Given the description of an element on the screen output the (x, y) to click on. 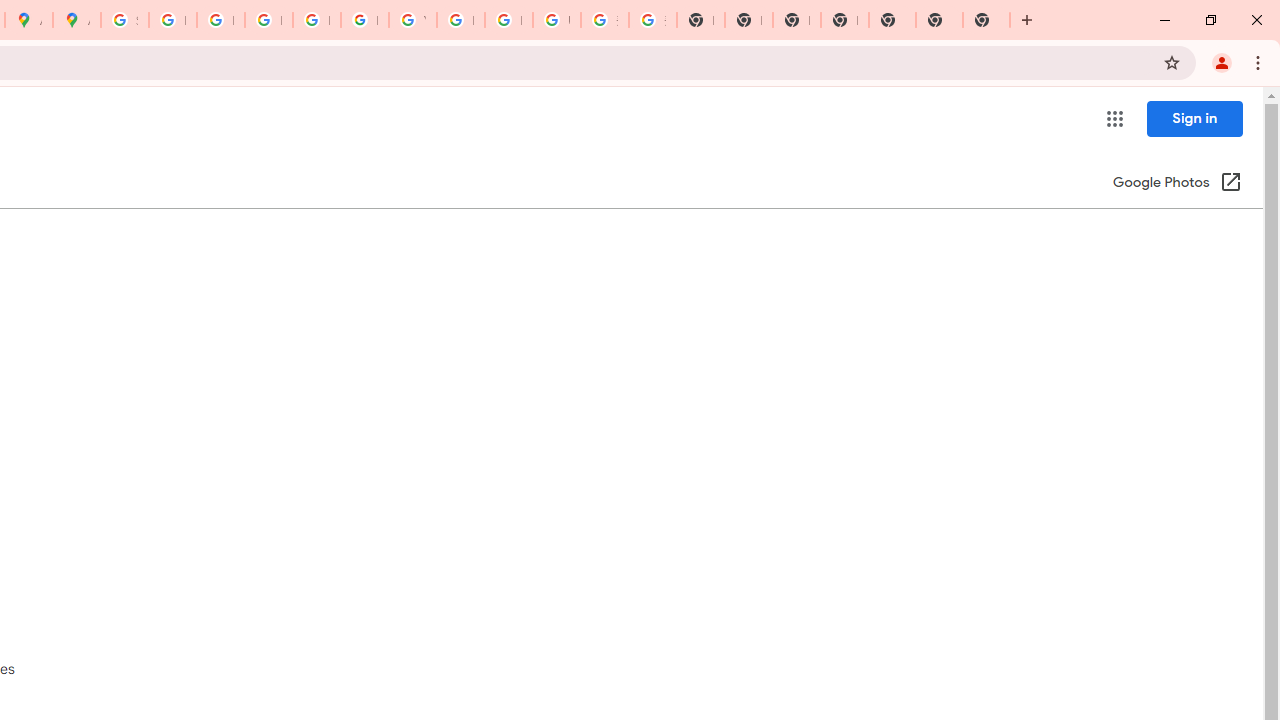
Google Photos (Open in a new window) (1177, 183)
New Tab (985, 20)
New Tab (844, 20)
